Given the description of an element on the screen output the (x, y) to click on. 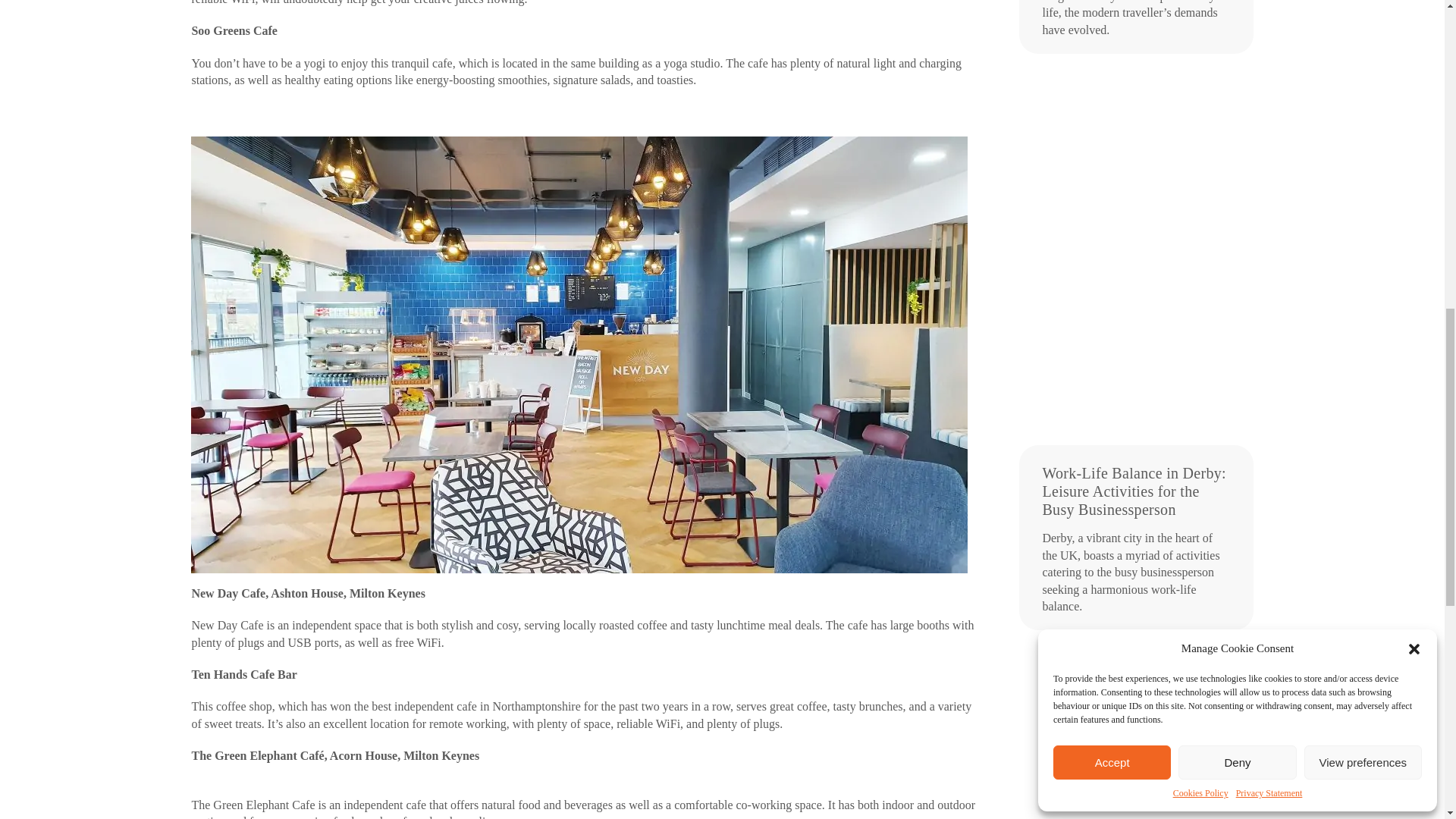
Soo Greens Cafe (233, 30)
New Day Cafe, Ashton House, Milton Keynes (307, 593)
